Given the description of an element on the screen output the (x, y) to click on. 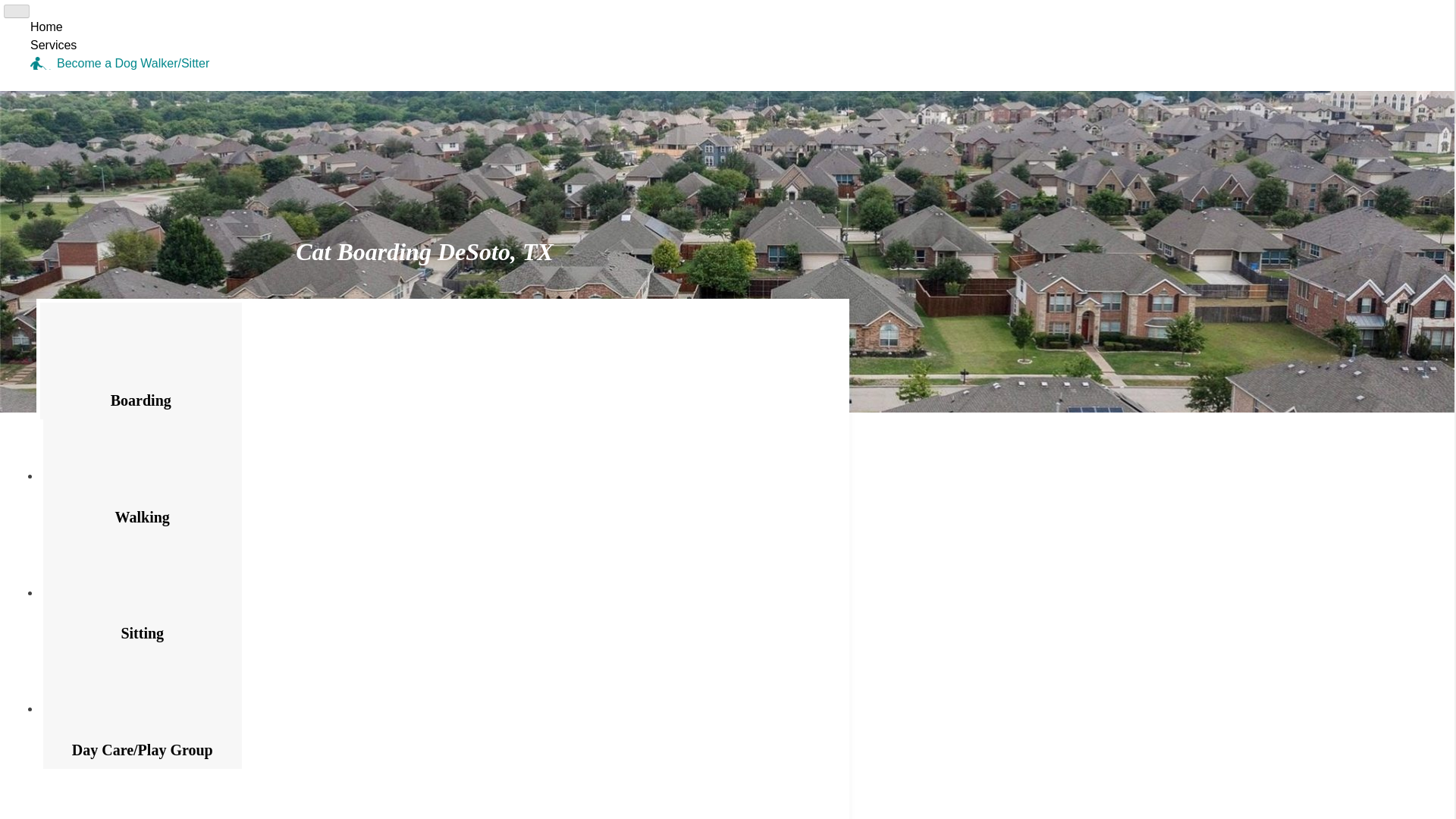
Boarding (140, 360)
Sitting (142, 594)
Walking (142, 477)
Services (53, 44)
